Given the description of an element on the screen output the (x, y) to click on. 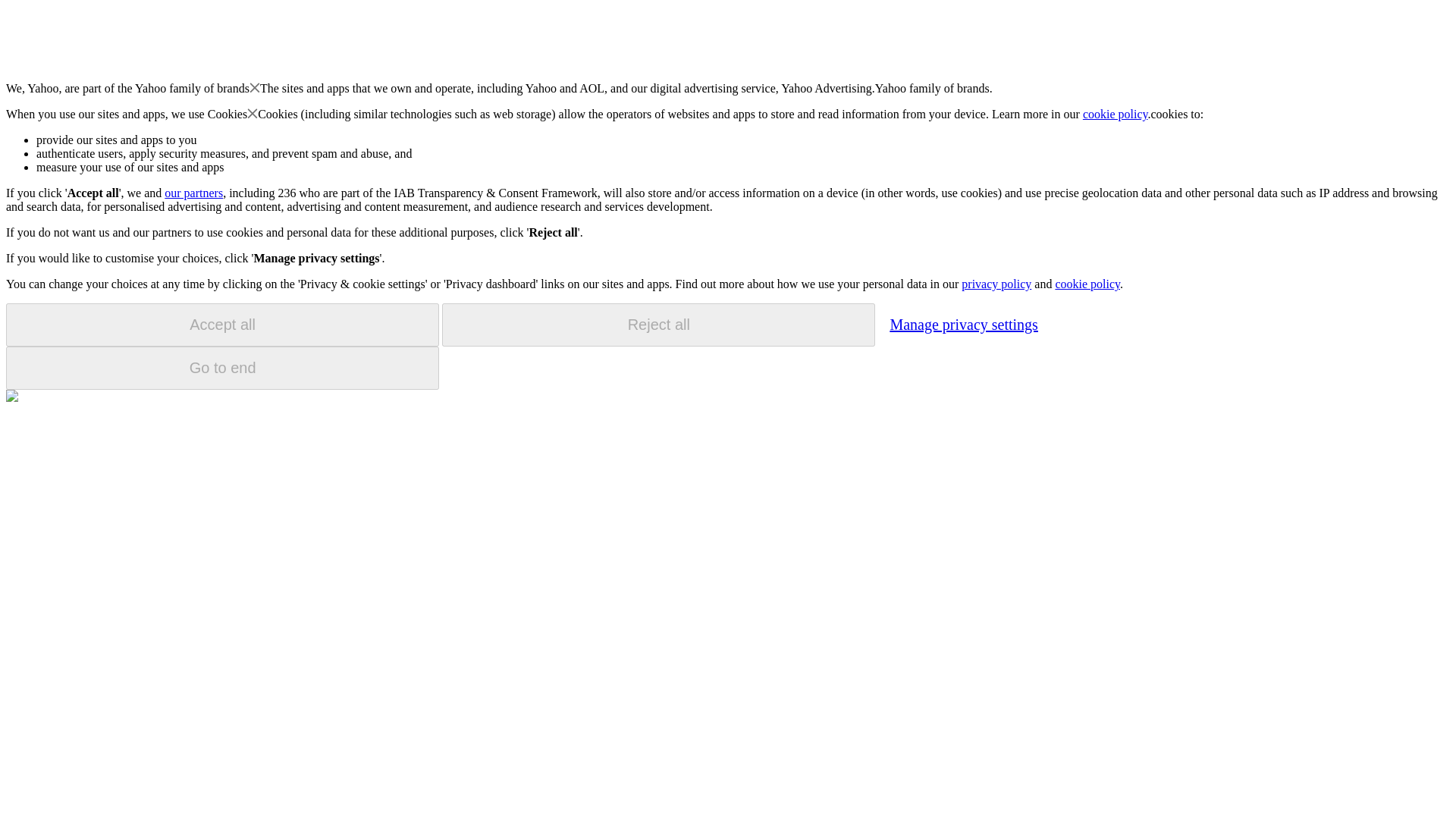
Reject all (658, 324)
Manage privacy settings (963, 323)
privacy policy (995, 283)
cookie policy (1086, 283)
Accept all (222, 324)
our partners (193, 192)
cookie policy (1115, 113)
Go to end (222, 367)
